Given the description of an element on the screen output the (x, y) to click on. 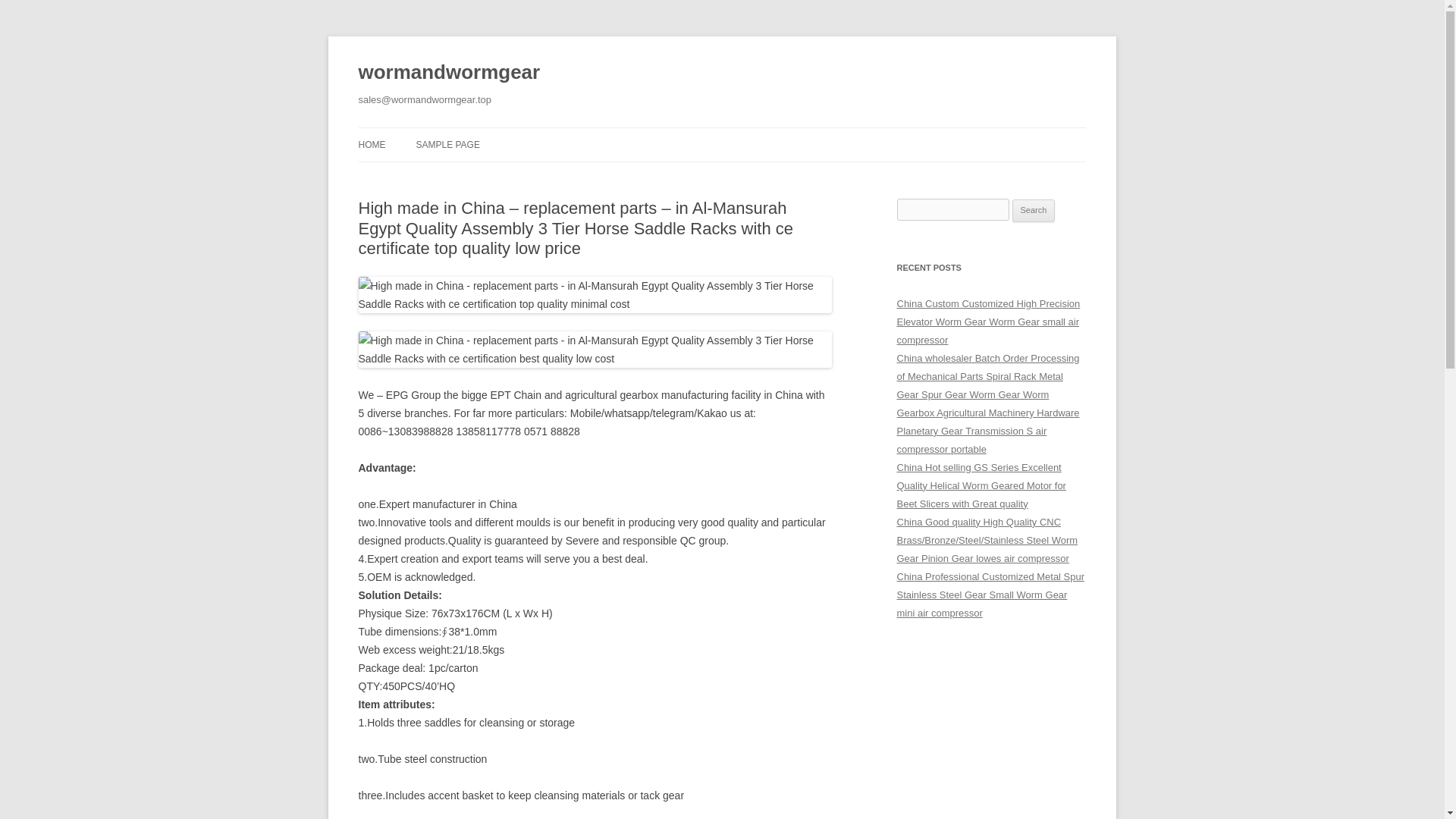
SAMPLE PAGE (446, 144)
wormandwormgear (449, 72)
wormandwormgear (449, 72)
Search (1033, 210)
